Given the description of an element on the screen output the (x, y) to click on. 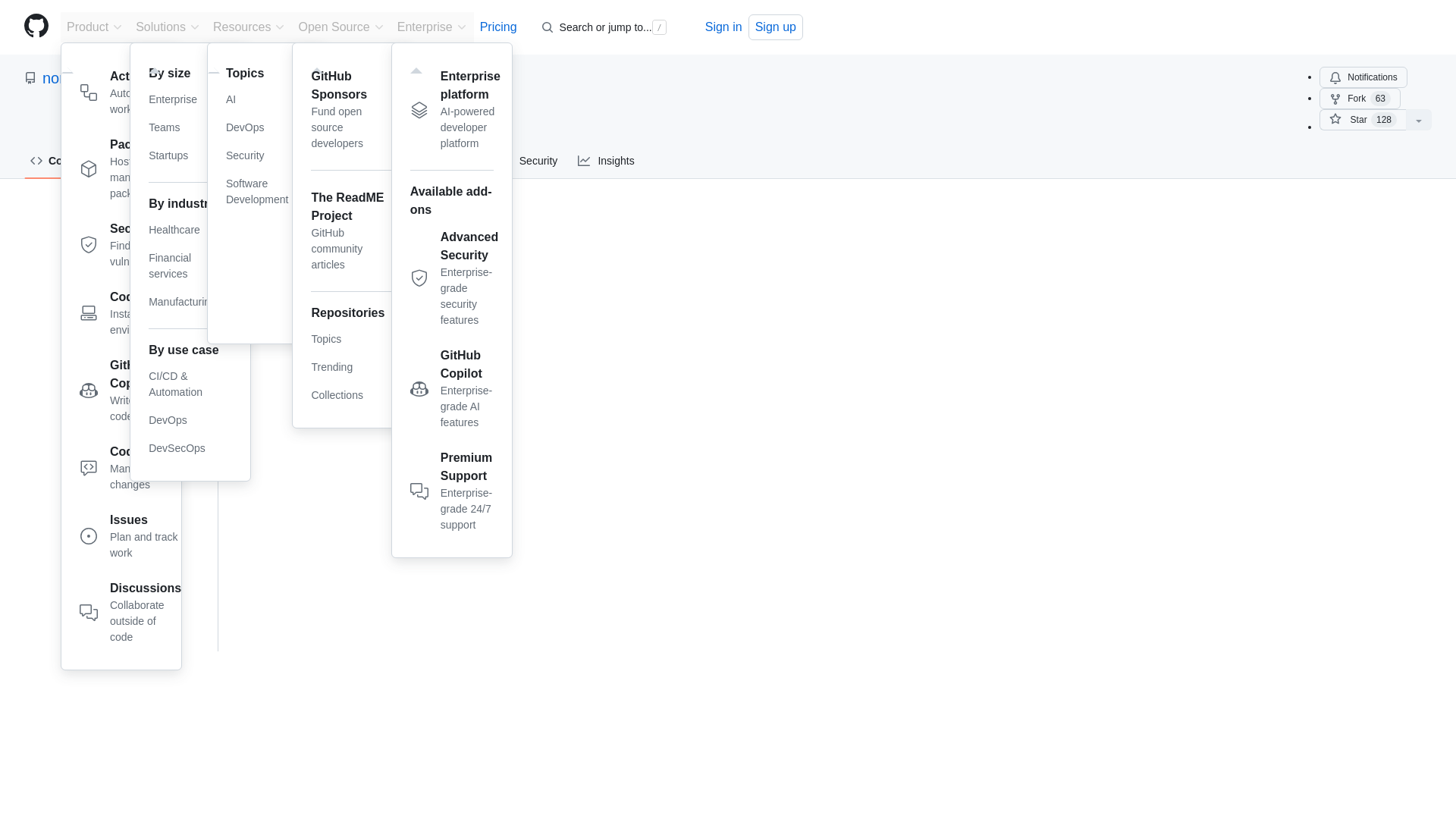
Software Development (130, 539)
63 (256, 191)
DevOps (130, 95)
Customer Stories (1380, 98)
Startups (189, 420)
Solutions (366, 259)
AI (189, 155)
Healthcare (167, 27)
DevOps (256, 99)
Partners (189, 230)
Documentation (130, 171)
